Given the description of an element on the screen output the (x, y) to click on. 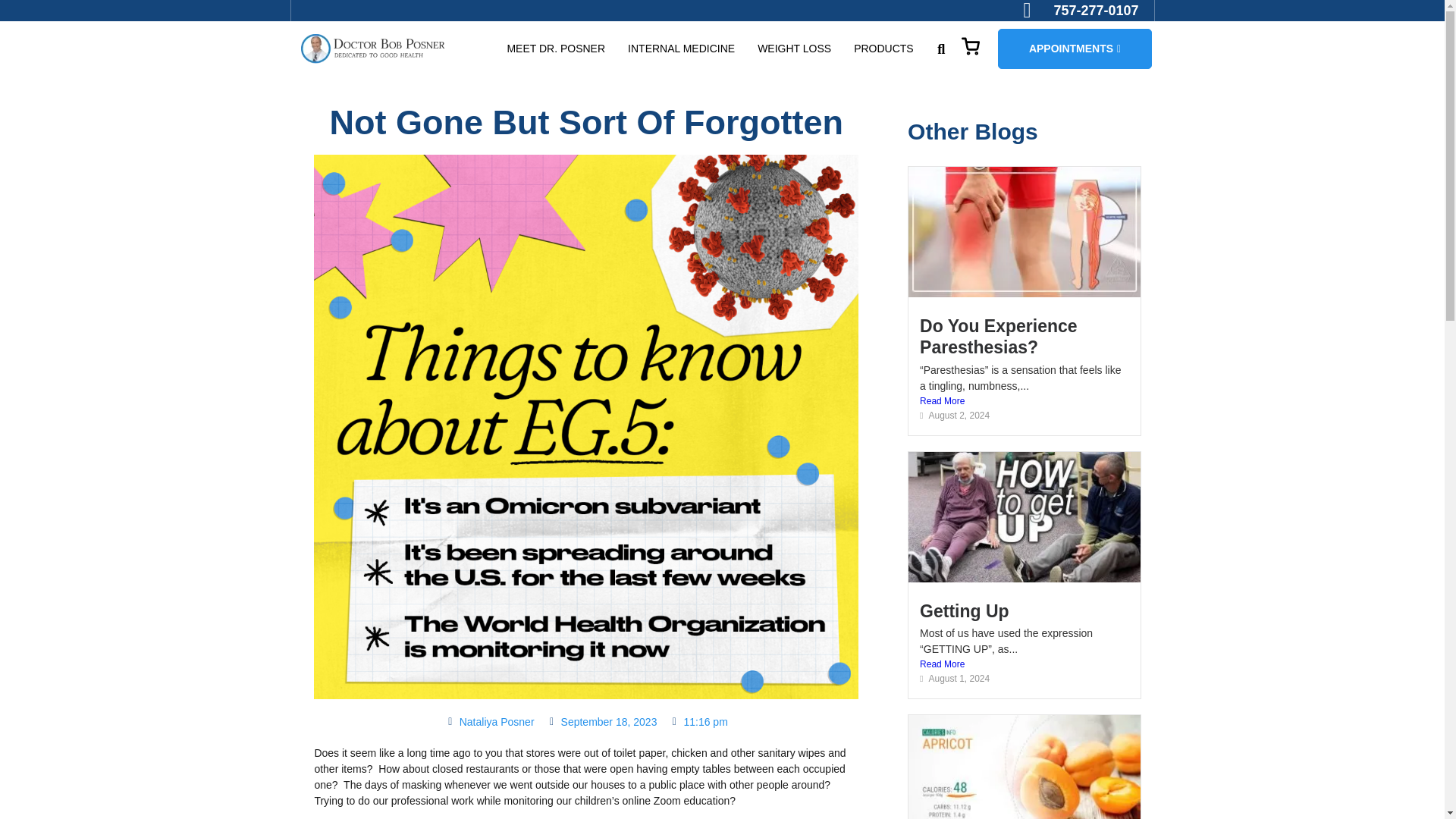
Getting Up (964, 610)
Do You Experience Paresthesias? (998, 336)
APPOINTMENTS (1074, 48)
INTERNAL MEDICINE (681, 48)
757-277-0107 (1080, 10)
PRODUCTS (883, 48)
WEIGHT LOSS (794, 48)
MEET DR. POSNER (555, 48)
